Given the description of an element on the screen output the (x, y) to click on. 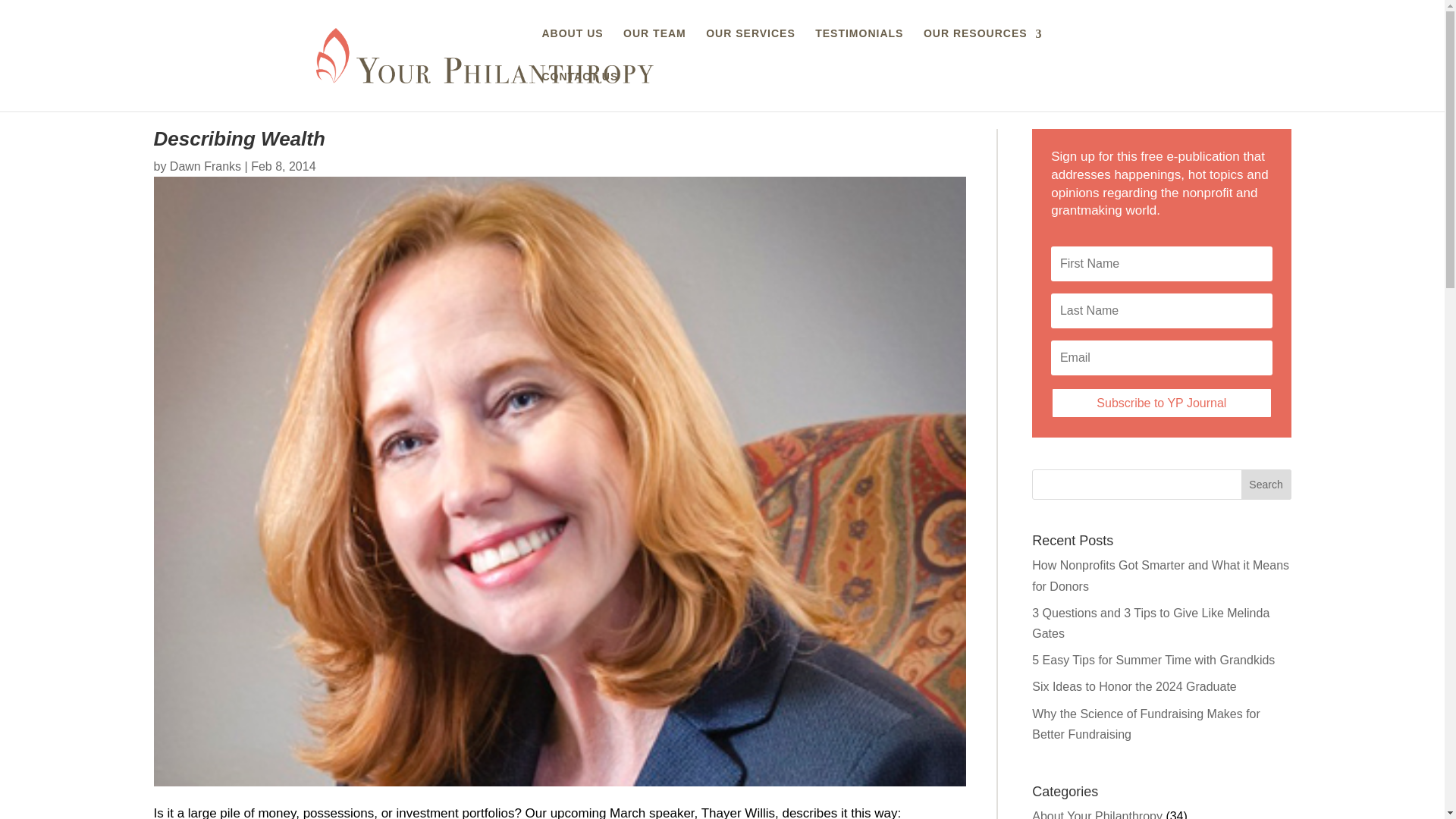
ABOUT US (571, 46)
Dawn Franks (205, 165)
3 Questions and 3 Tips to Give Like Melinda Gates (1150, 622)
Subscribe to YP Journal (1161, 402)
Search (1266, 484)
OUR TEAM (654, 46)
Posts by Dawn Franks (205, 165)
OUR SERVICES (750, 46)
TESTIMONIALS (858, 46)
Search (1266, 484)
How Nonprofits Got Smarter and What it Means for Donors (1160, 575)
CONTACT US (579, 89)
OUR RESOURCES (982, 46)
